Given the description of an element on the screen output the (x, y) to click on. 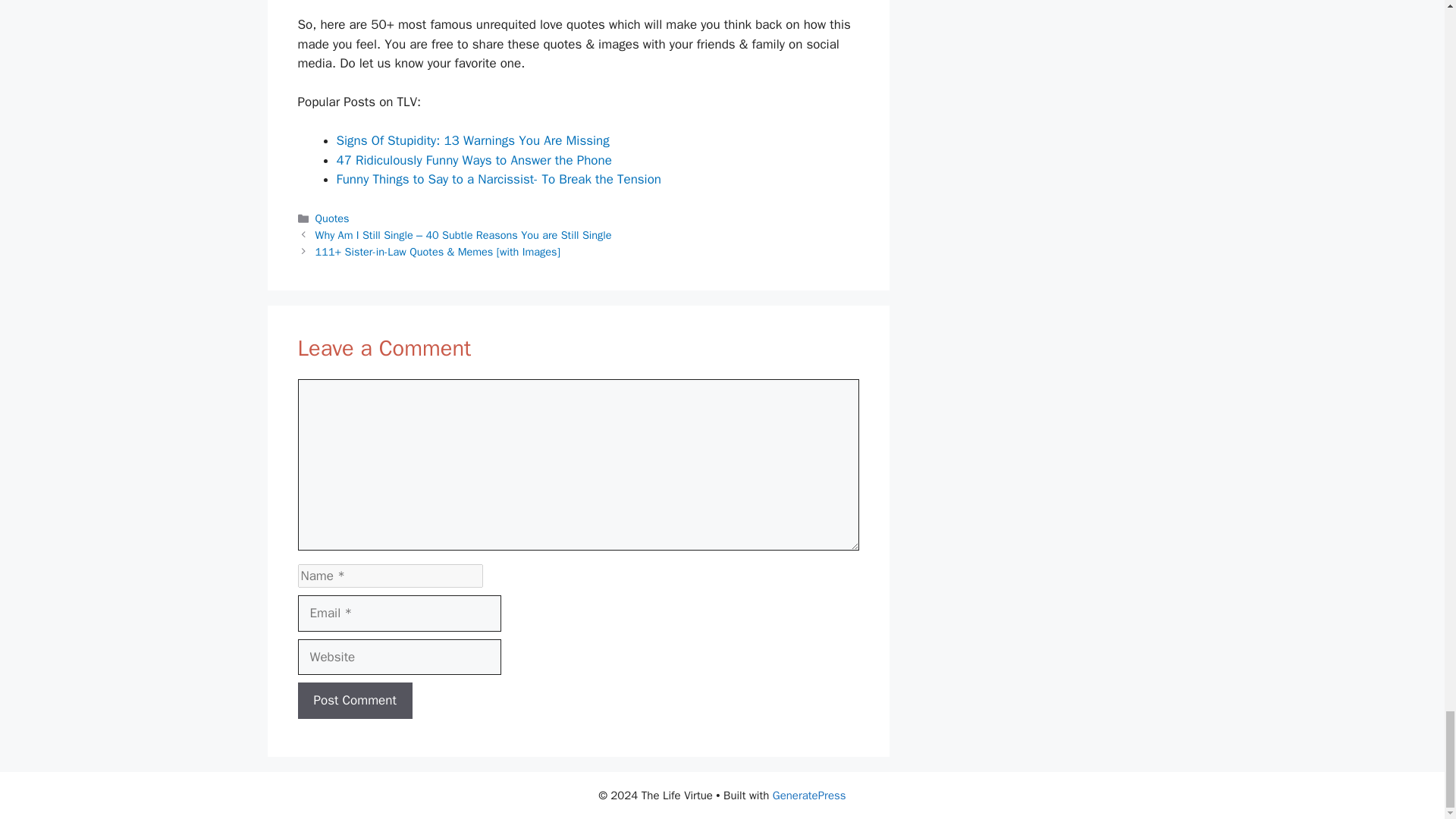
Post Comment (354, 700)
47 Ridiculously Funny Ways to Answer the Phone (473, 160)
Signs Of Stupidity: 13 Warnings You Are Missing (473, 140)
Post Comment (354, 700)
Funny Things to Say to a Narcissist- To Break the Tension (499, 179)
Quotes (332, 218)
